Given the description of an element on the screen output the (x, y) to click on. 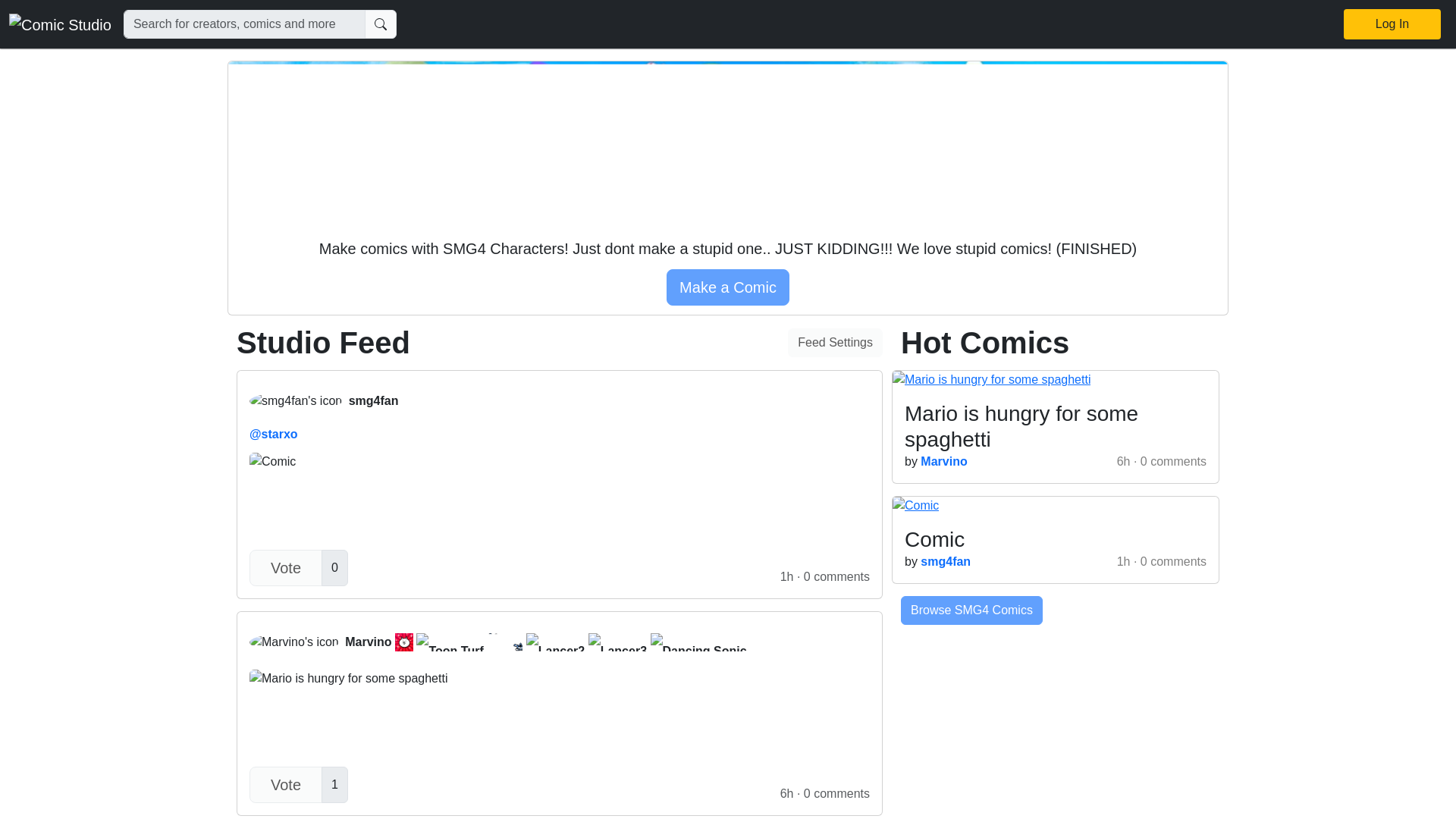
Log In (1392, 24)
Lancer2 (555, 642)
Dancing Sonic (698, 642)
Vote (284, 567)
Lancer1 (512, 642)
smg4fan (558, 401)
Feed Settings (834, 342)
Lancer3 (558, 642)
Toon Turf (617, 642)
The Battle Cats (449, 642)
Vote (403, 642)
Make a Comic (284, 784)
